Given the description of an element on the screen output the (x, y) to click on. 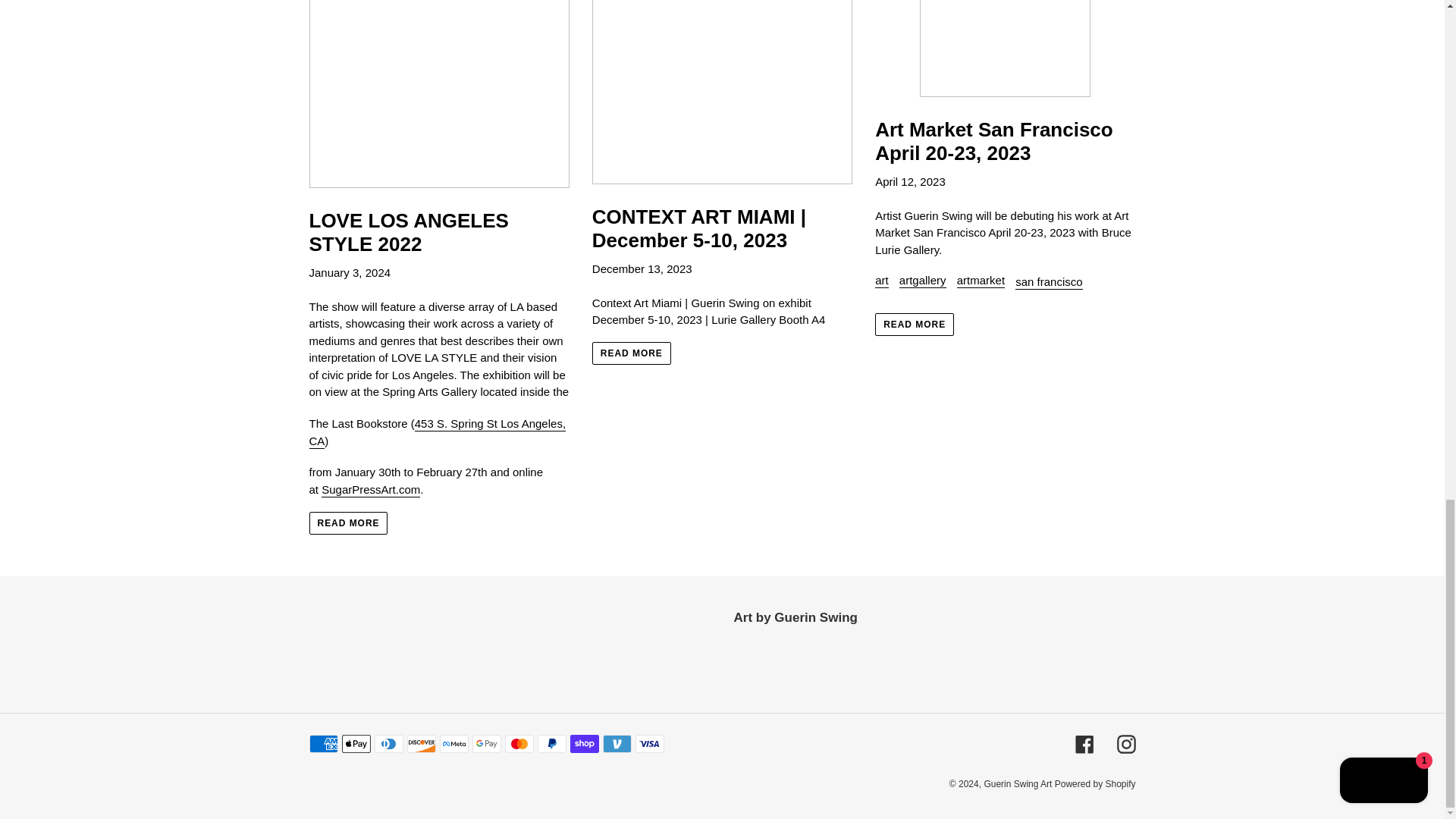
LOVE LOS ANGELES STYLE 2022 (438, 128)
SugarPressArt.com (370, 490)
san francisco (1047, 282)
READ MORE (631, 353)
READ MORE (348, 522)
Instagram (1125, 743)
artmarket (980, 280)
Art Market San Francisco April 20-23, 2023 (1005, 82)
art (881, 280)
READ MORE (914, 323)
artgallery (922, 280)
Facebook (1084, 743)
453 S. Spring St Los Angeles, CA (437, 432)
